Given the description of an element on the screen output the (x, y) to click on. 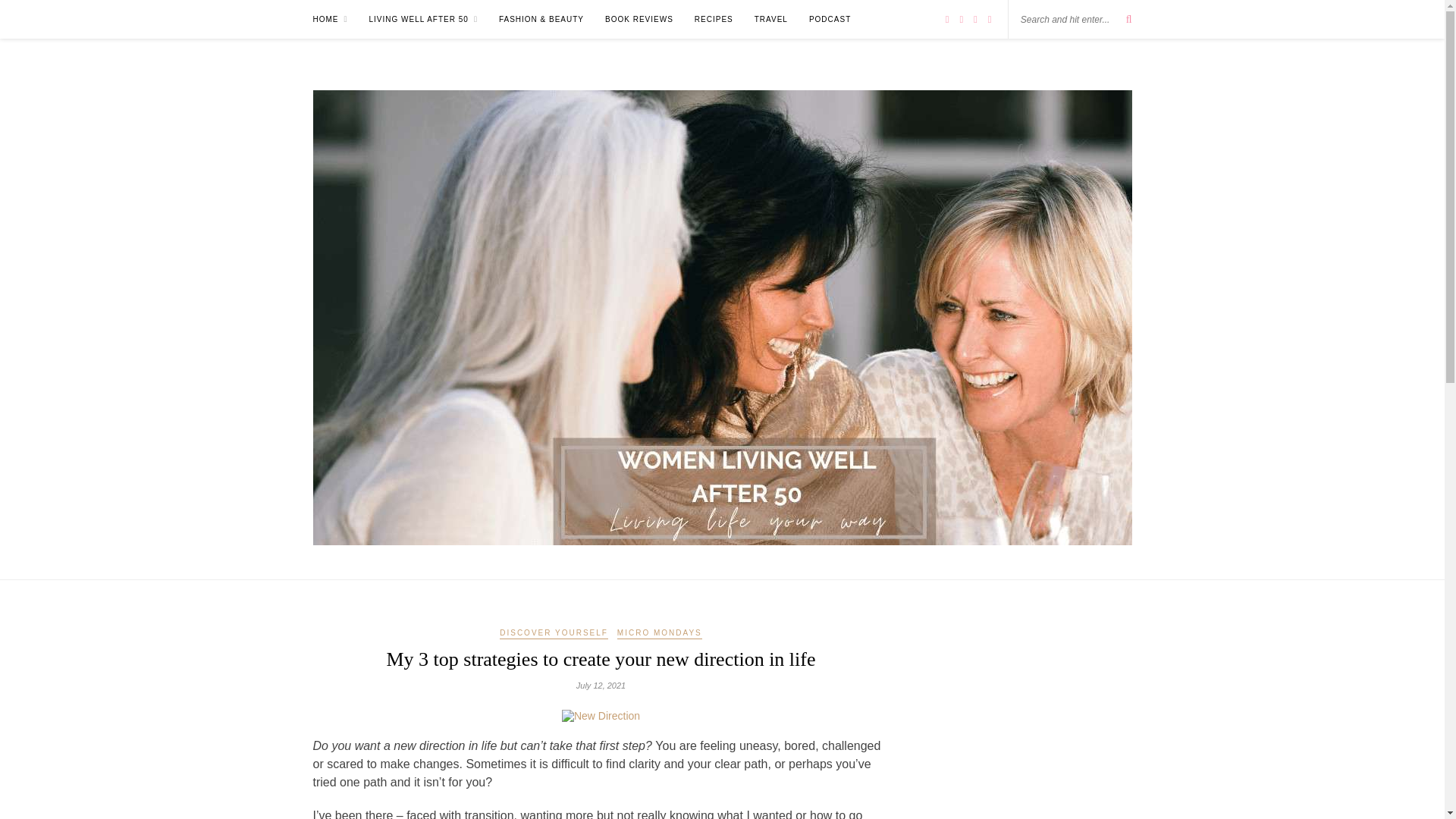
View all posts in Discover Yourself (553, 633)
LIVING WELL AFTER 50 (423, 19)
View all posts in Micro Mondays (659, 633)
PODCAST (829, 19)
RECIPES (713, 19)
Living Well After 50 (423, 19)
HOME (330, 19)
MICRO MONDAYS (659, 633)
DISCOVER YOURSELF (553, 633)
BOOK REVIEWS (638, 19)
